Given the description of an element on the screen output the (x, y) to click on. 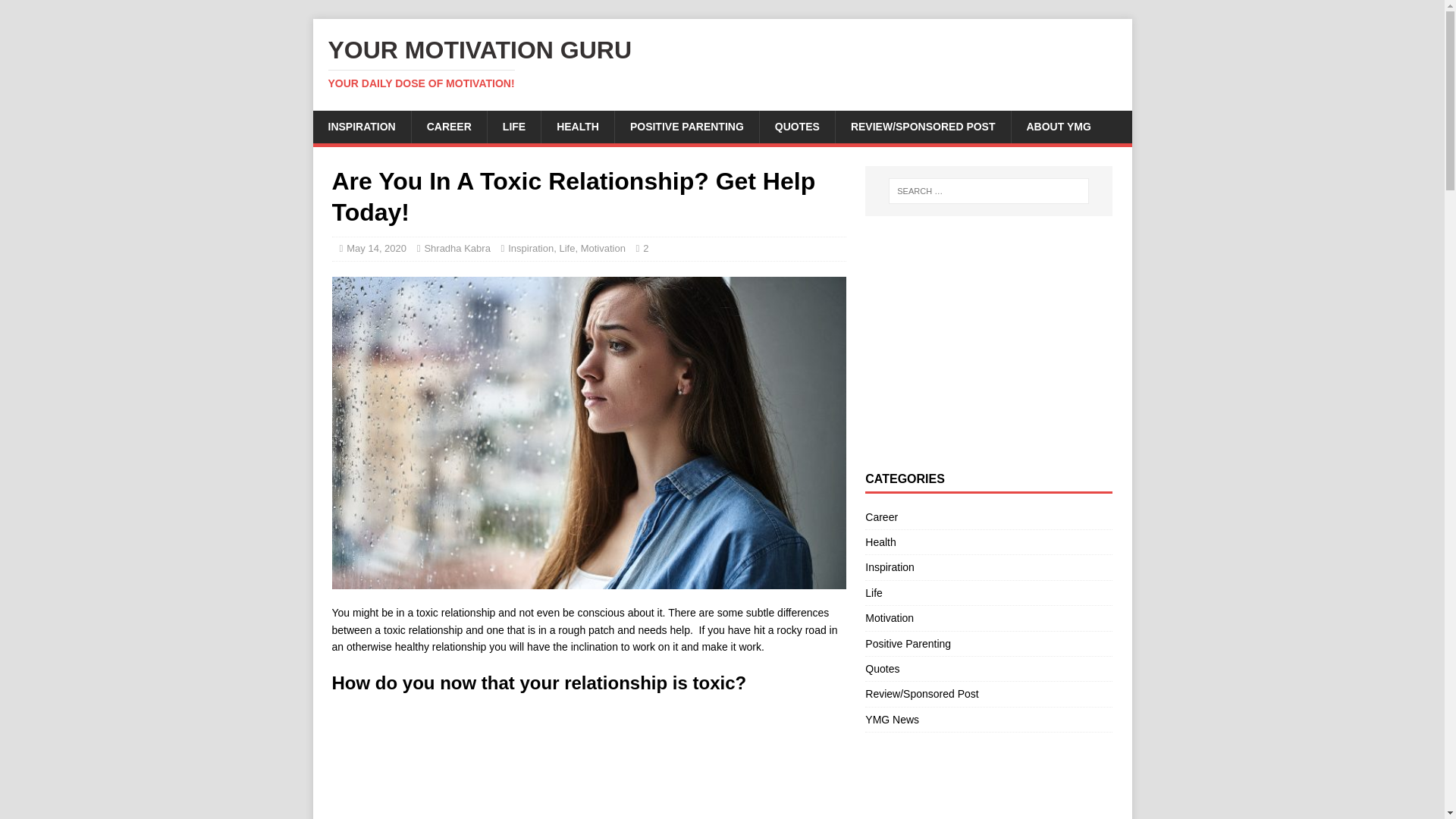
Inspiration (988, 567)
POSITIVE PARENTING (686, 126)
LIFE (513, 126)
Motivation (603, 247)
Life (988, 592)
CAREER (448, 126)
Inspiration (530, 247)
Shradha Kabra (456, 247)
May 14, 2020 (721, 63)
